Given the description of an element on the screen output the (x, y) to click on. 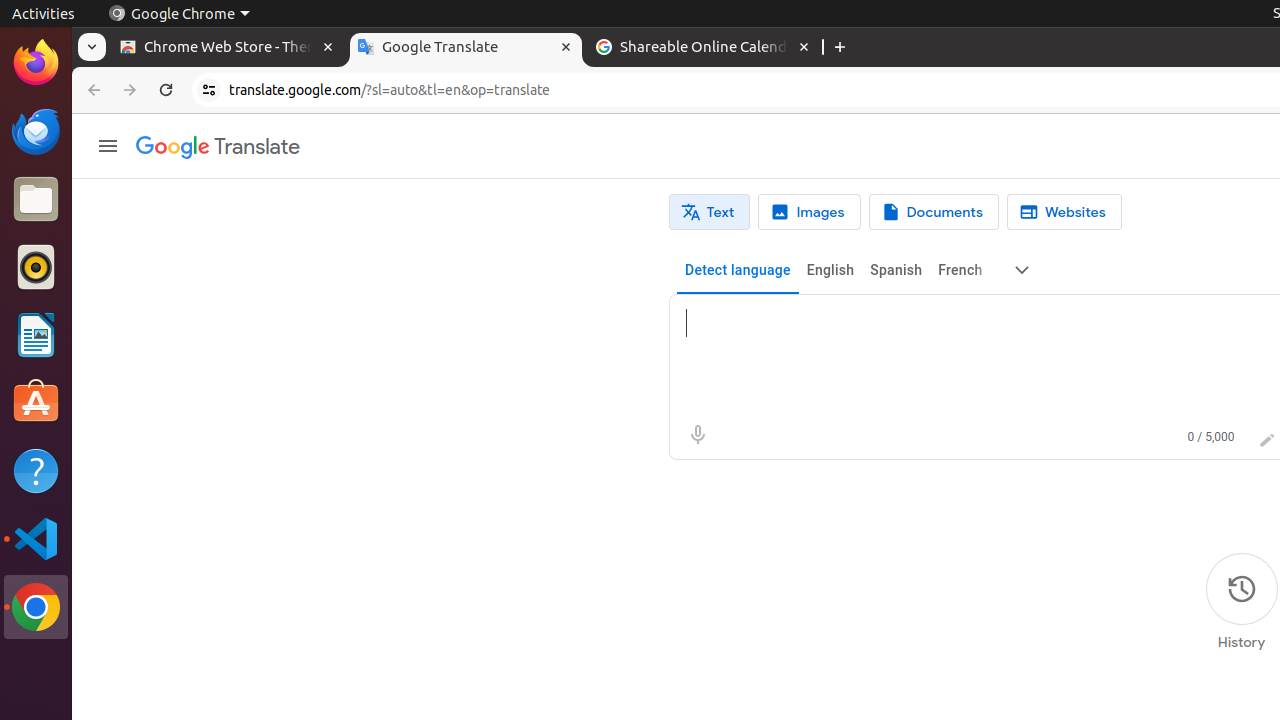
Google Translate Element type: page-tab (466, 47)
Spanish Element type: page-tab (895, 270)
Google Chrome Element type: push-button (36, 607)
New Tab Element type: push-button (840, 47)
Document translation Element type: push-button (933, 211)
